Given the description of an element on the screen output the (x, y) to click on. 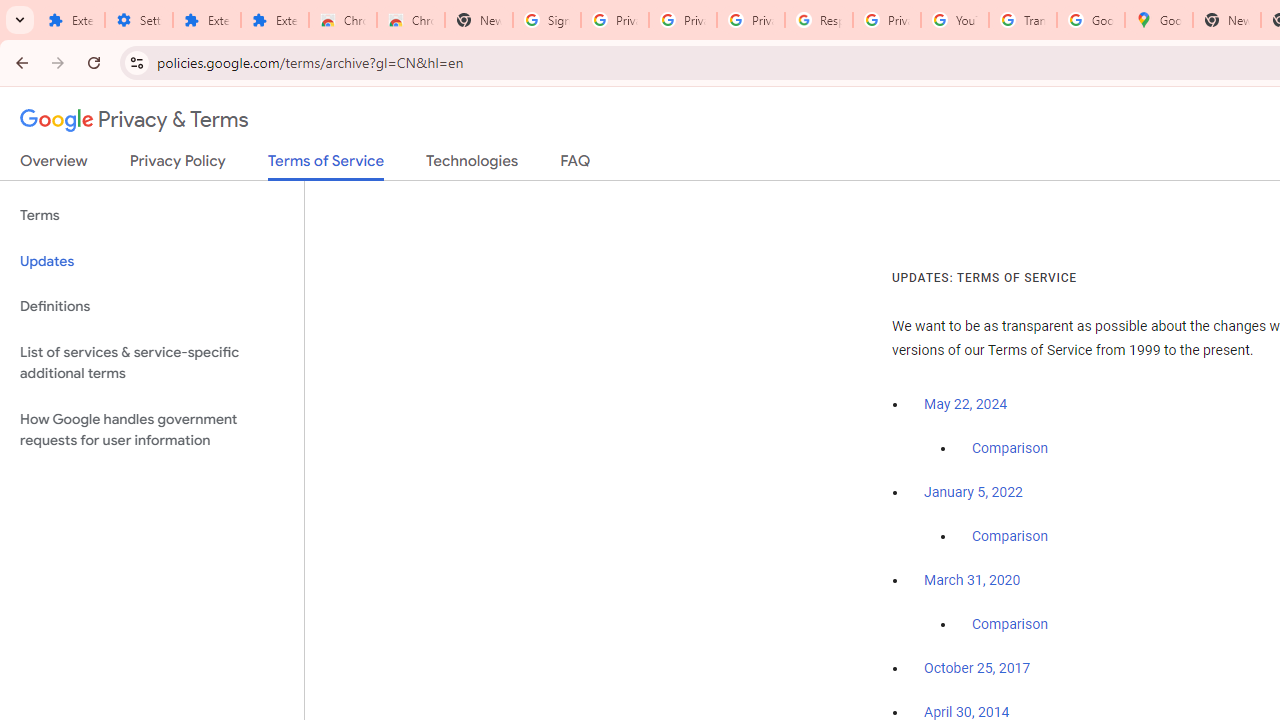
YouTube (954, 20)
List of services & service-specific additional terms (152, 362)
New Tab (479, 20)
